Given the description of an element on the screen output the (x, y) to click on. 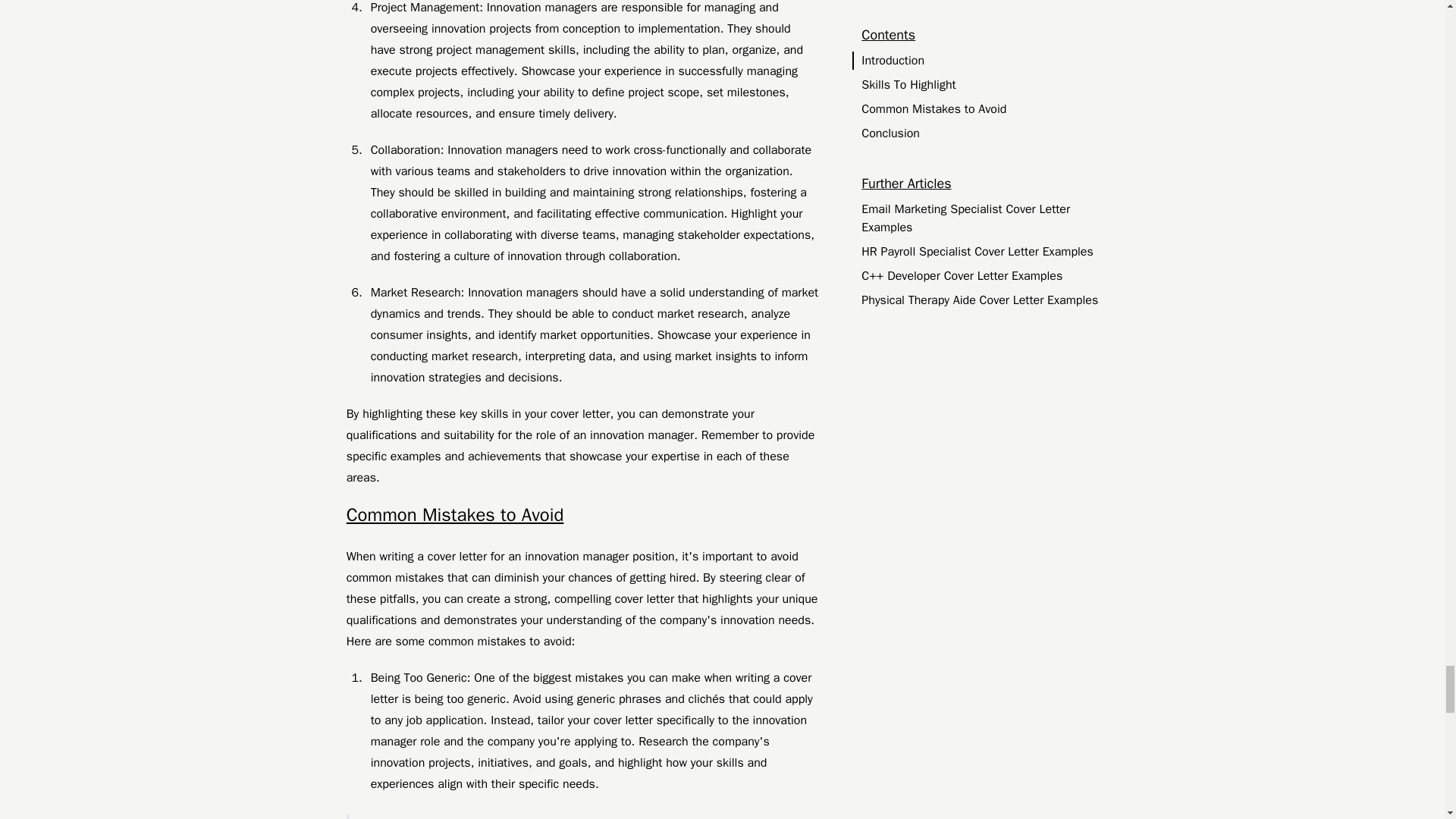
Common Mistakes to Avoid (582, 515)
